Given the description of an element on the screen output the (x, y) to click on. 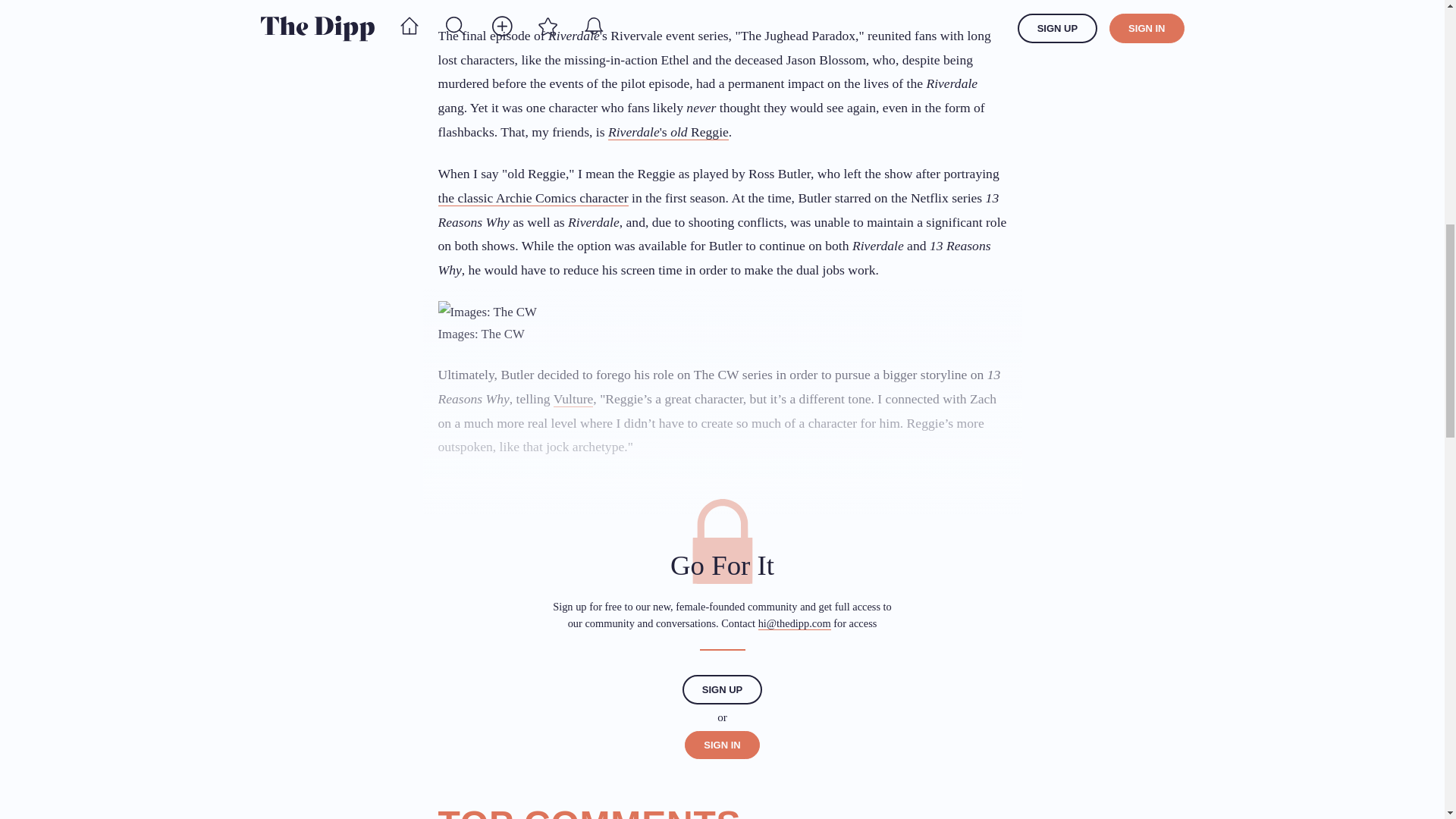
SIGN IN (721, 745)
SIGN UP (721, 689)
Riverdale's old Reggie (668, 132)
the classic Archie Comics character (533, 198)
Vulture (573, 399)
